Given the description of an element on the screen output the (x, y) to click on. 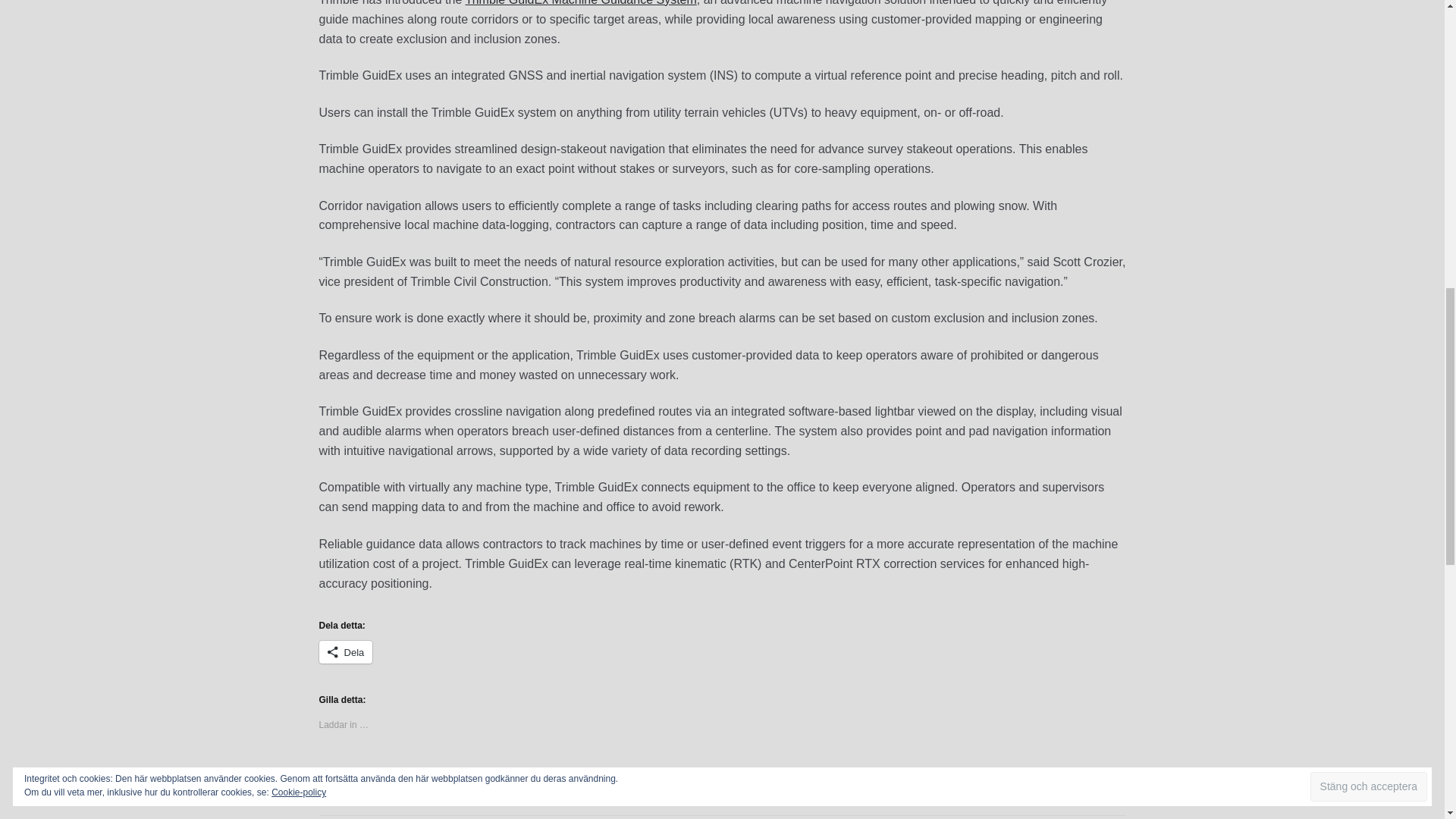
Dela (345, 650)
Gilla eller reblogga (721, 776)
Trimble GuidEx Machine Guidance System (581, 2)
